Given the description of an element on the screen output the (x, y) to click on. 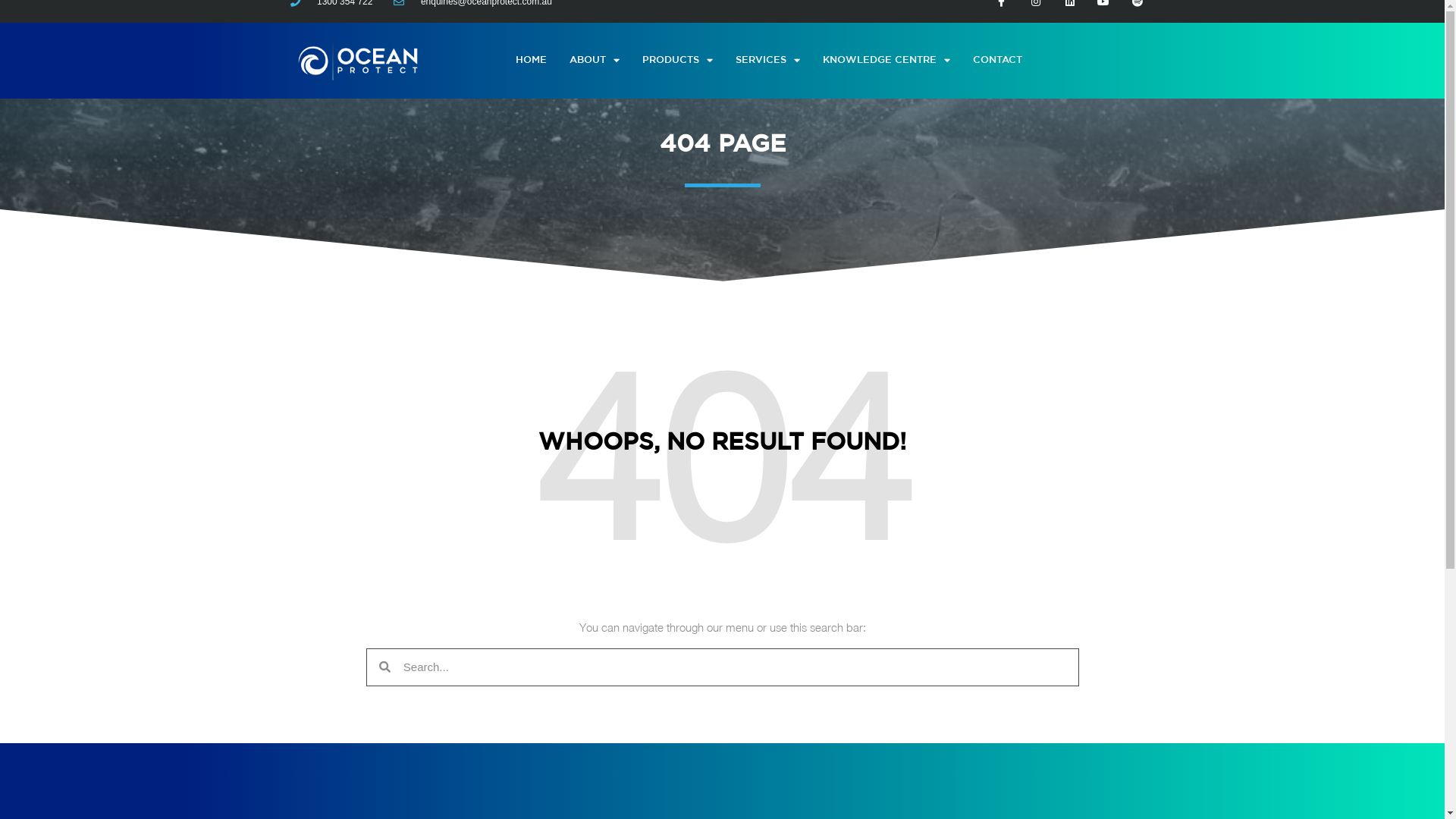
PRODUCTS Element type: text (677, 60)
SERVICES Element type: text (767, 60)
KNOWLEDGE CENTRE Element type: text (886, 60)
ABOUT Element type: text (594, 60)
CONTACT Element type: text (997, 60)
HOME Element type: text (531, 60)
